Given the description of an element on the screen output the (x, y) to click on. 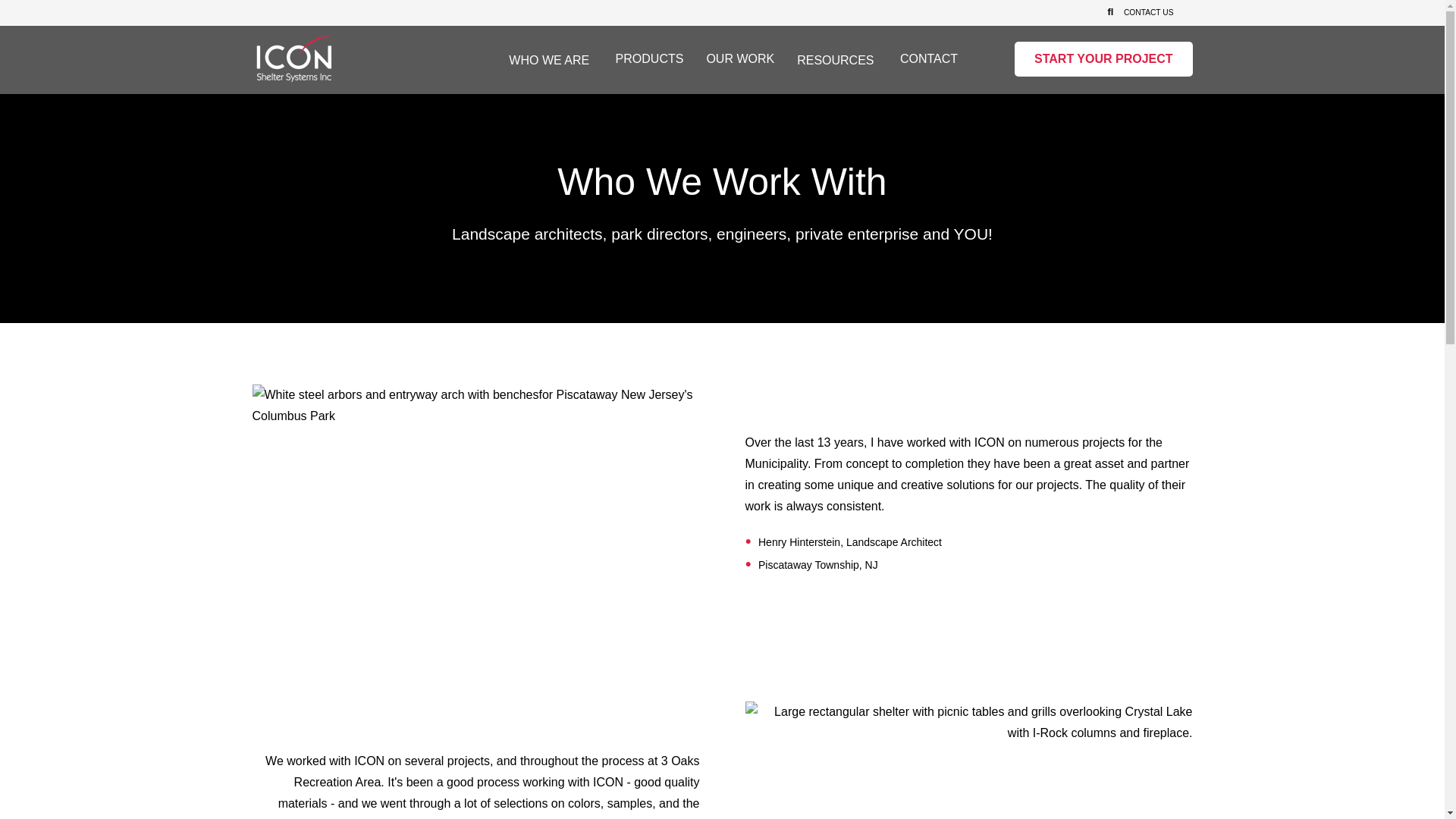
PRODUCTS (649, 61)
CONTACT (928, 61)
CONTACT US (1148, 12)
RESOURCES (834, 62)
START YOUR PROJECT (1103, 58)
WHO WE ARE (548, 62)
OUR WORK (740, 61)
